Given the description of an element on the screen output the (x, y) to click on. 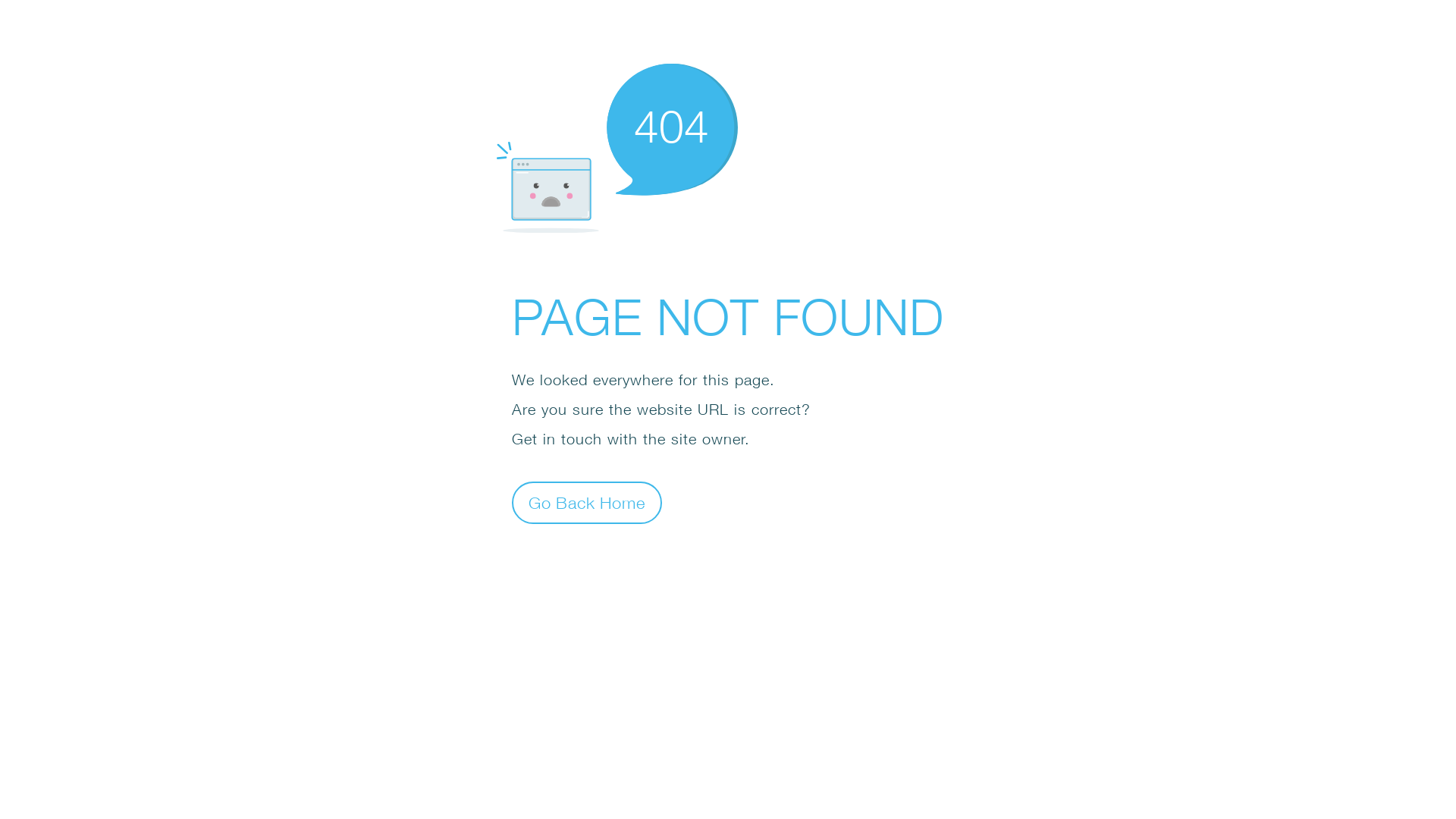
Go Back Home Element type: text (586, 502)
